Given the description of an element on the screen output the (x, y) to click on. 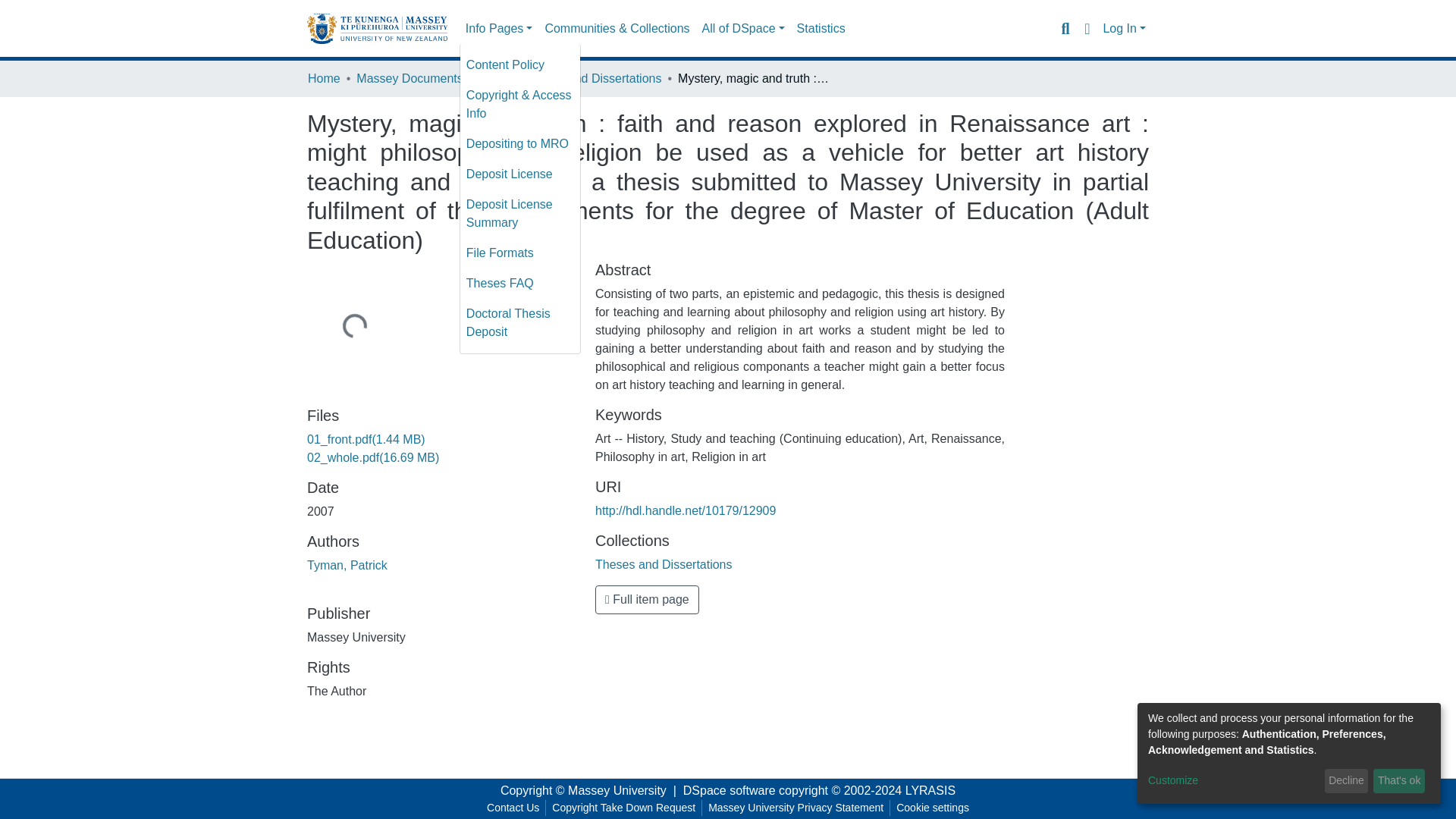
File Formats (519, 253)
Info Pages (499, 28)
Contact Us (512, 807)
Deposit License Summary (519, 213)
All of DSpace (742, 28)
DSpace software (729, 789)
Theses and Dissertations (593, 78)
Doctoral Thesis Deposit (519, 322)
LYRASIS (930, 789)
Language switch (1086, 28)
Theses and Dissertations (663, 563)
Content Policy (519, 64)
Depositing to MRO (519, 143)
Statistics (820, 28)
Theses FAQ (519, 283)
